Given the description of an element on the screen output the (x, y) to click on. 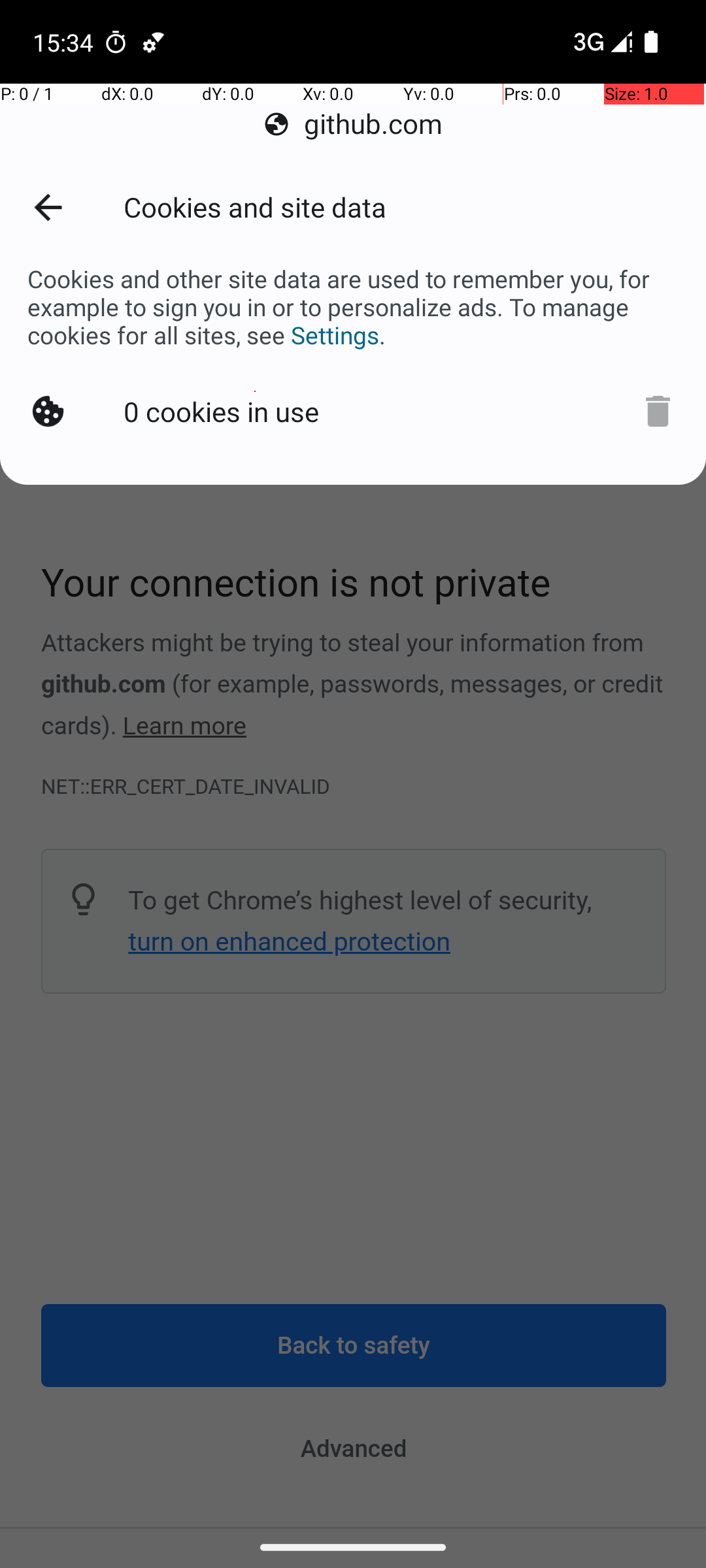
Cookies and other site data are used to remember you, for example to sign you in or to personalize ads. To manage cookies for all sites, see Settings. Element type: android.widget.TextView (352, 306)
0 cookies in use Element type: android.widget.TextView (221, 410)
Delete cookies? Element type: android.widget.ImageView (656, 410)
